Given the description of an element on the screen output the (x, y) to click on. 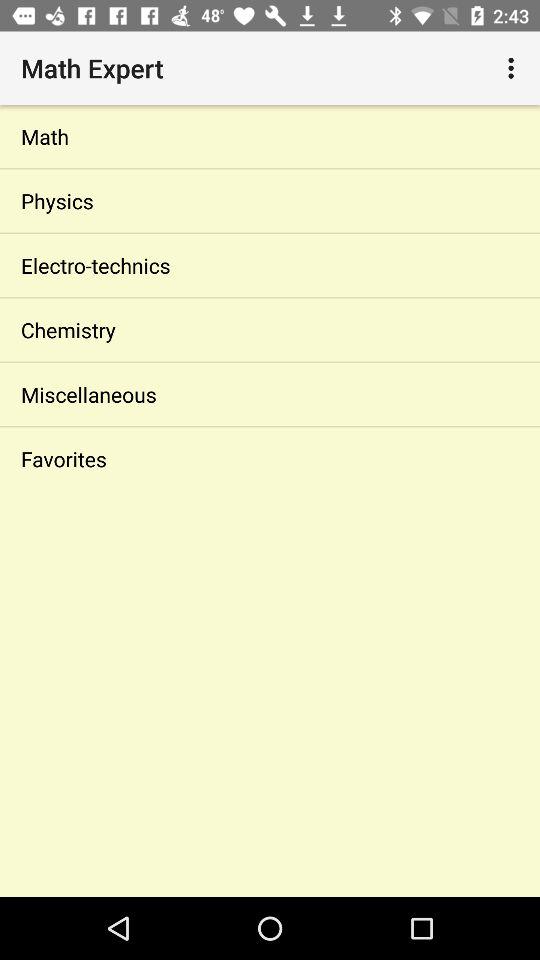
turn off item above miscellaneous app (270, 329)
